Given the description of an element on the screen output the (x, y) to click on. 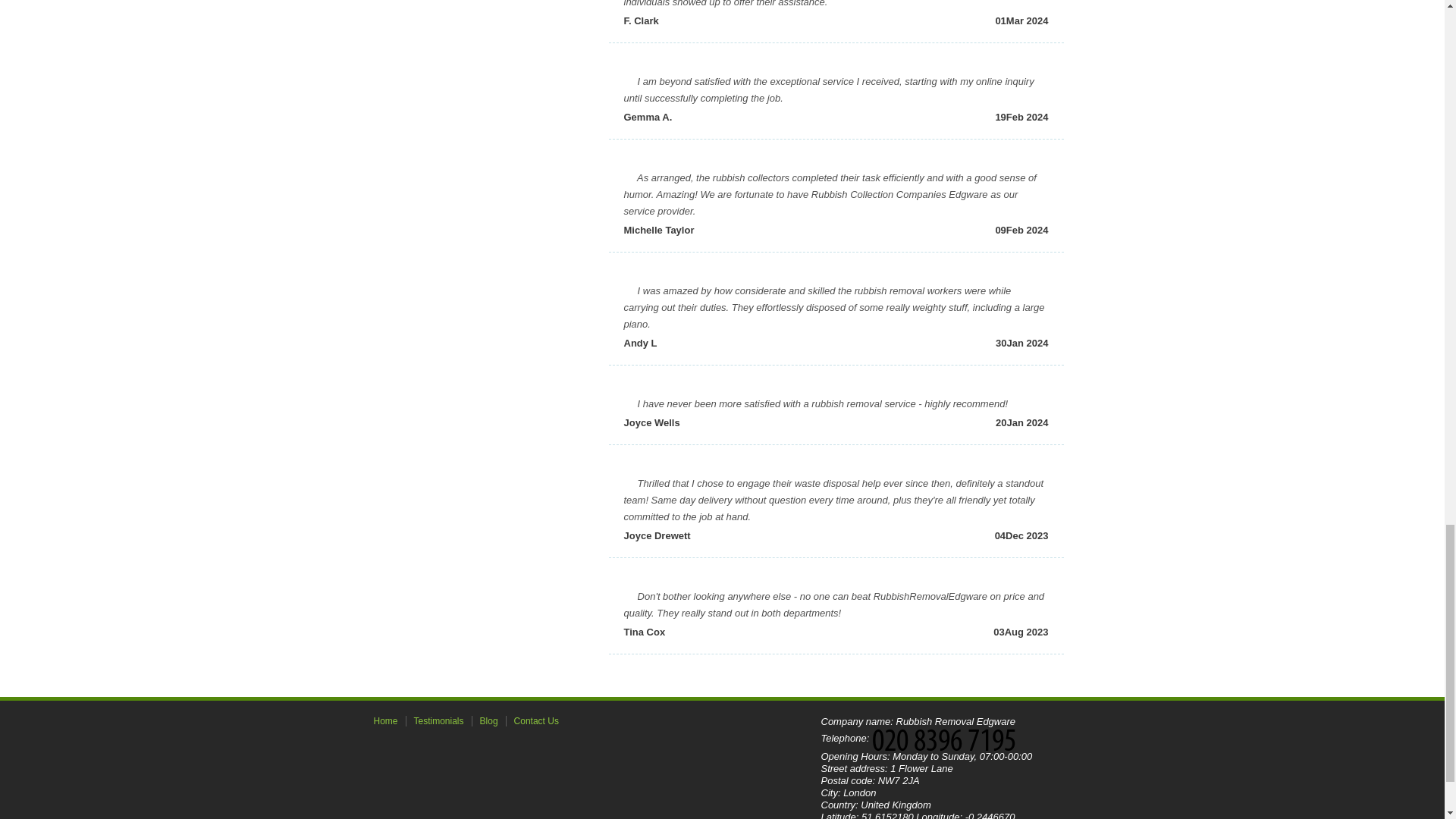
Home (385, 720)
Testimonials (438, 720)
Call Now! (947, 738)
Contact Us (536, 720)
Blog (488, 720)
